Given the description of an element on the screen output the (x, y) to click on. 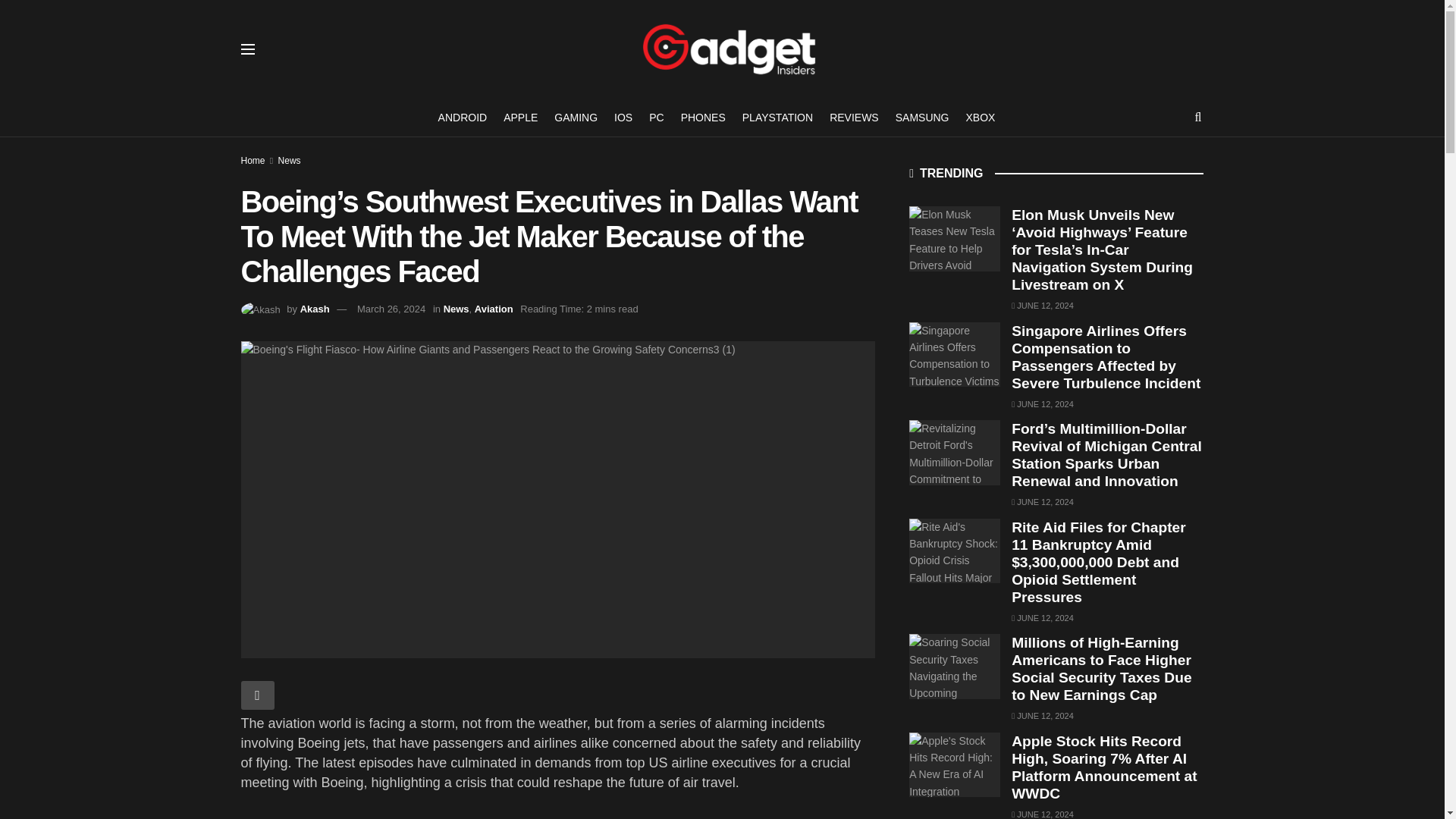
ANDROID (462, 117)
Home (252, 160)
March 26, 2024 (390, 308)
REVIEWS (854, 117)
PHONES (703, 117)
Akash (314, 308)
XBOX (980, 117)
IOS (622, 117)
GAMING (575, 117)
News (456, 308)
SAMSUNG (922, 117)
PC (656, 117)
Aviation (493, 308)
News (289, 160)
PLAYSTATION (777, 117)
